Given the description of an element on the screen output the (x, y) to click on. 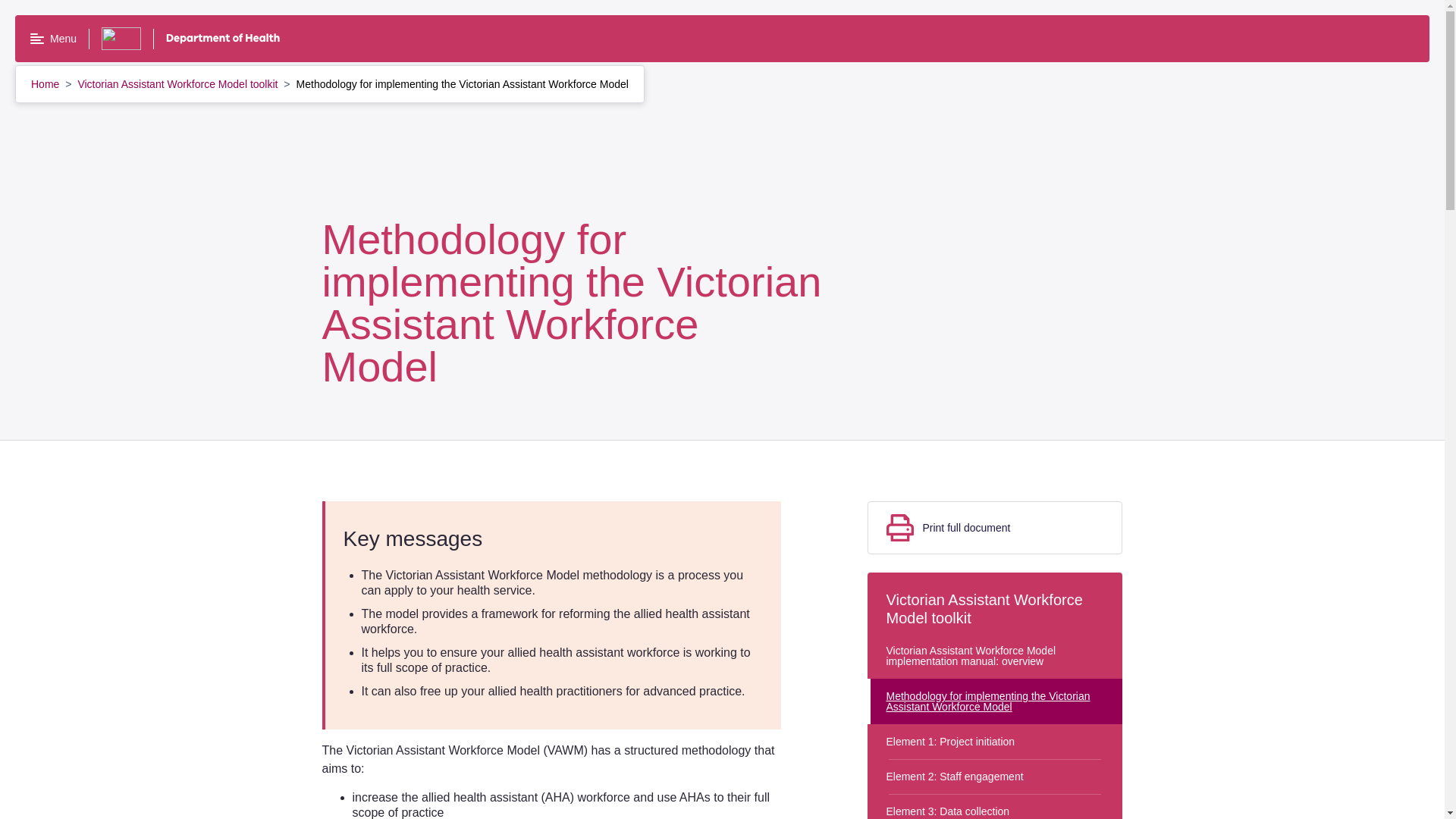
Element 1: Project initiation (994, 741)
Menu (53, 38)
Home (46, 83)
Print full document (994, 527)
Element 3: Data collection (994, 806)
Victorian Assistant Workforce Model toolkit (179, 83)
Element 2: Staff engagement (994, 776)
